Given the description of an element on the screen output the (x, y) to click on. 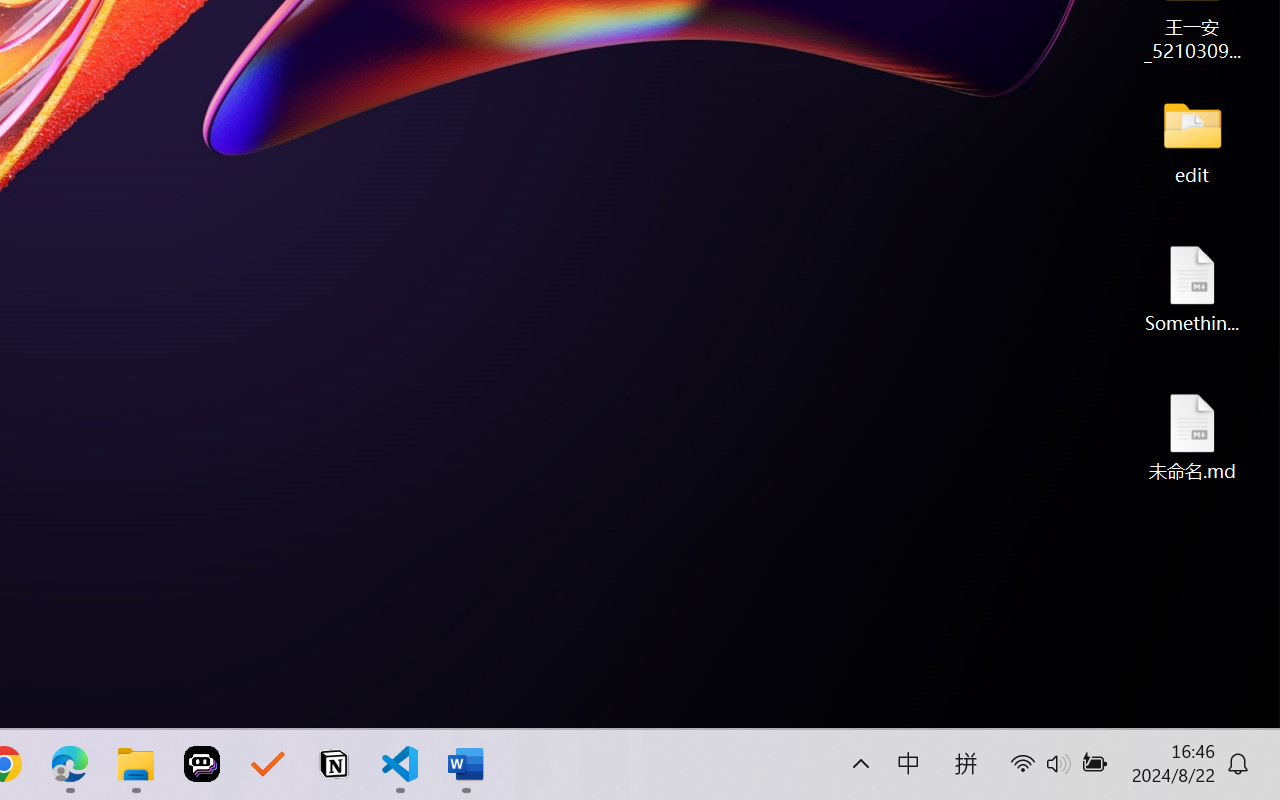
Something.md (1192, 288)
edit (1192, 140)
